Given the description of an element on the screen output the (x, y) to click on. 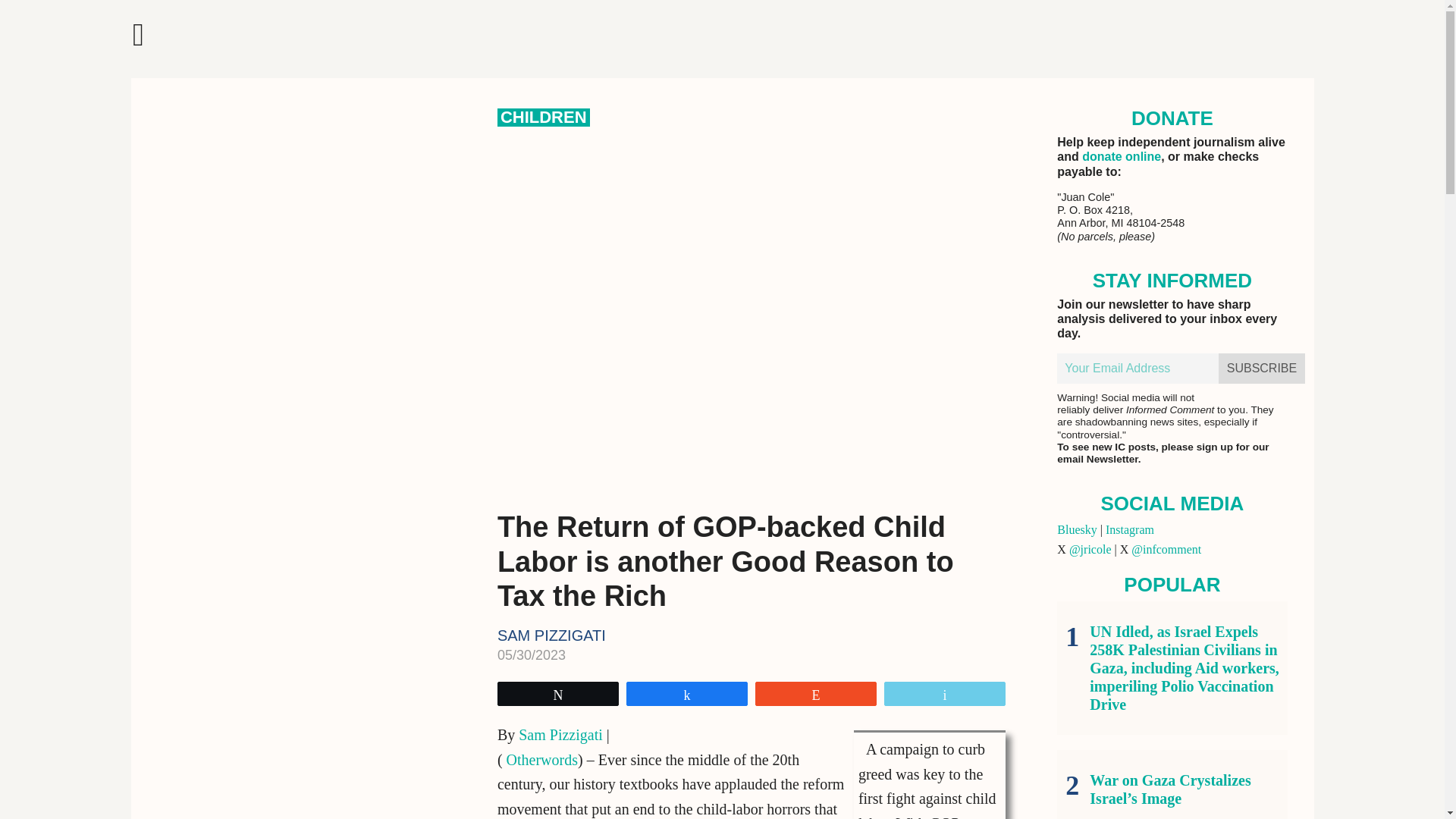
CHILDREN (543, 117)
subscribe (1262, 368)
Sam Pizzigati (560, 734)
SAM PIZZIGATI (551, 635)
Otherwords (540, 759)
